Given the description of an element on the screen output the (x, y) to click on. 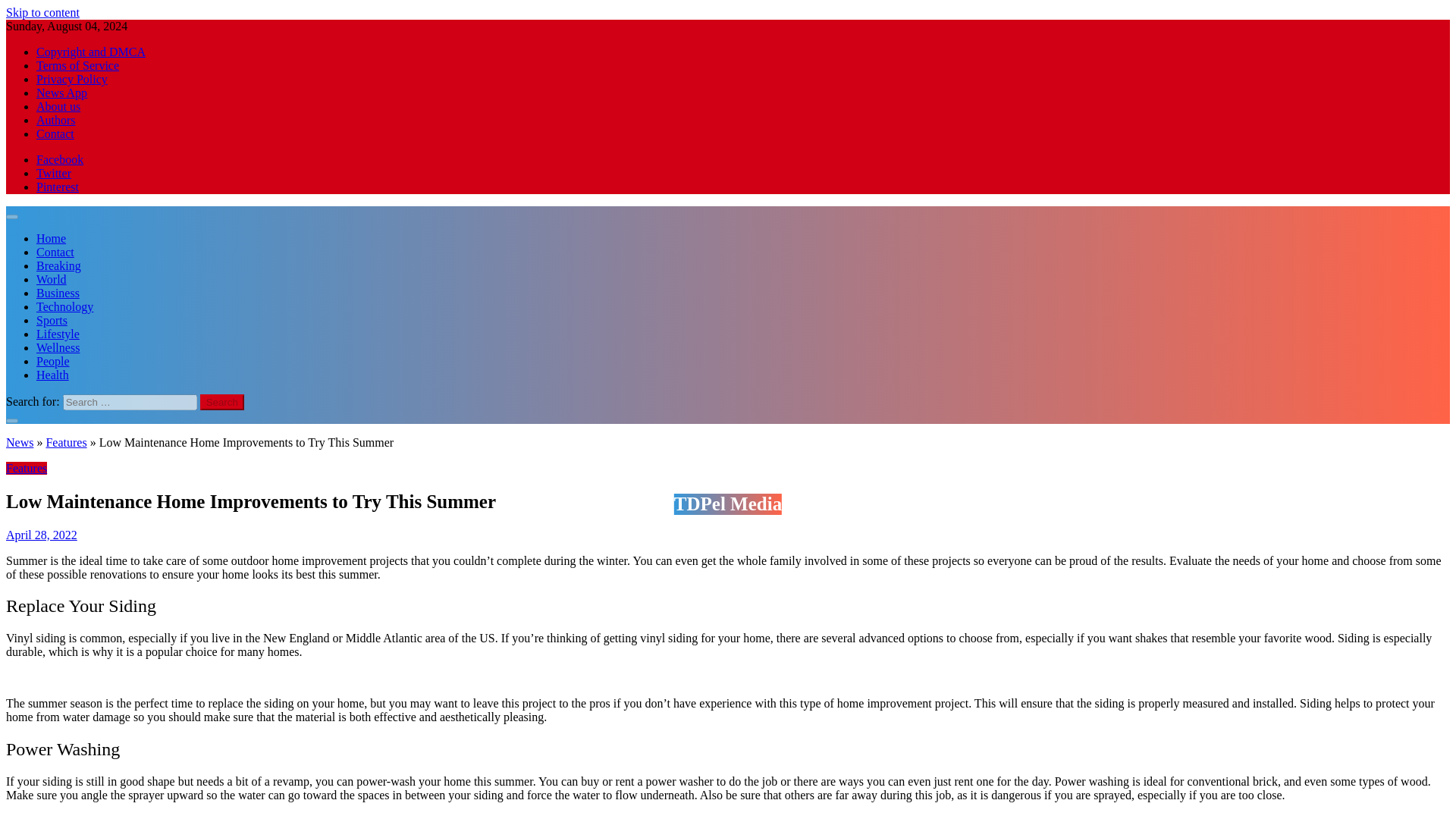
Features (25, 468)
News (19, 441)
Copyright and DMCA (90, 51)
World (51, 278)
Search (222, 401)
Contact (55, 133)
Facebook (59, 159)
News App (61, 92)
Terms of Service (77, 65)
Privacy Policy (71, 78)
